Given the description of an element on the screen output the (x, y) to click on. 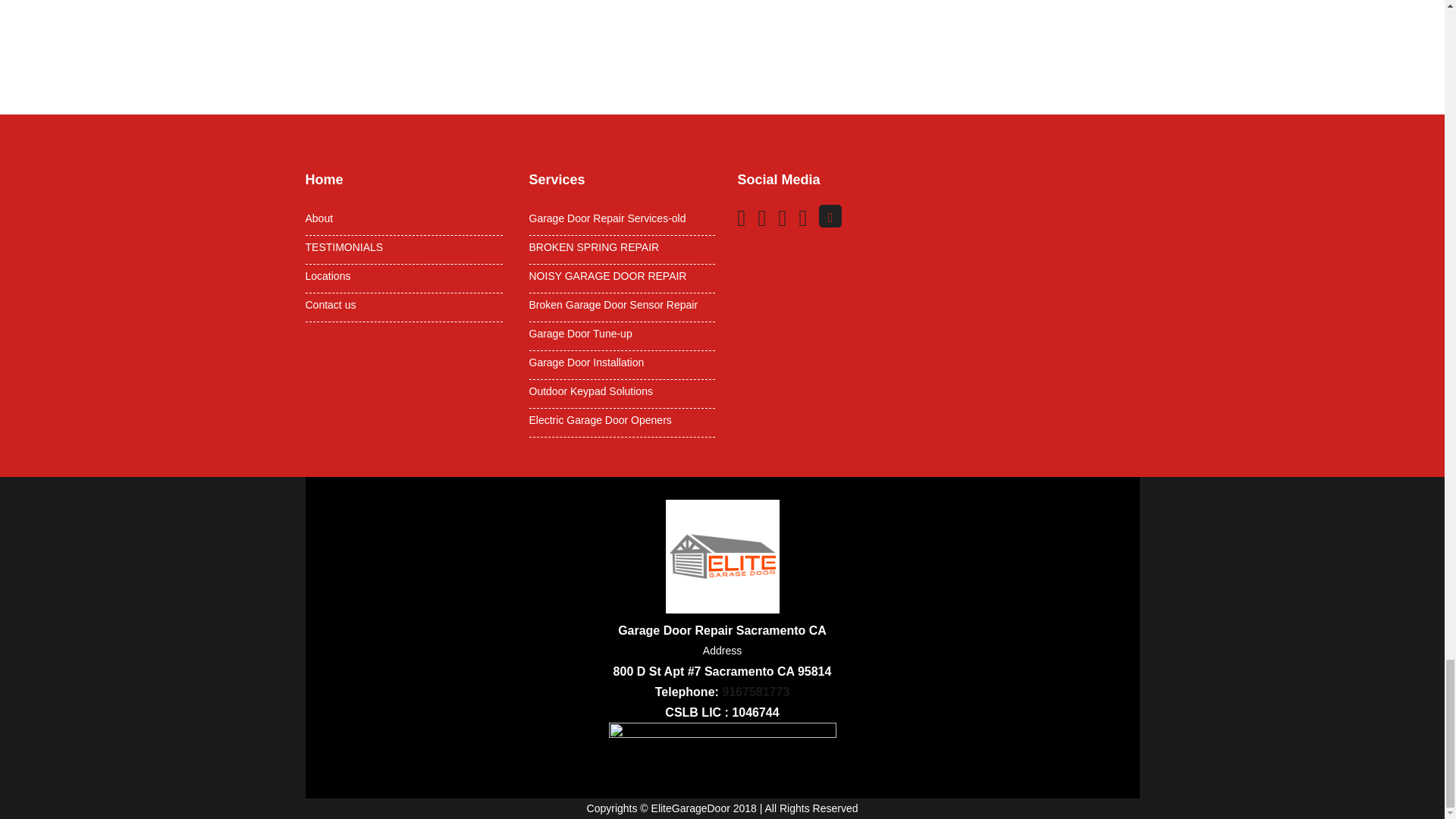
Locations (403, 275)
TESTIMONIALS (403, 246)
About (403, 217)
